Given the description of an element on the screen output the (x, y) to click on. 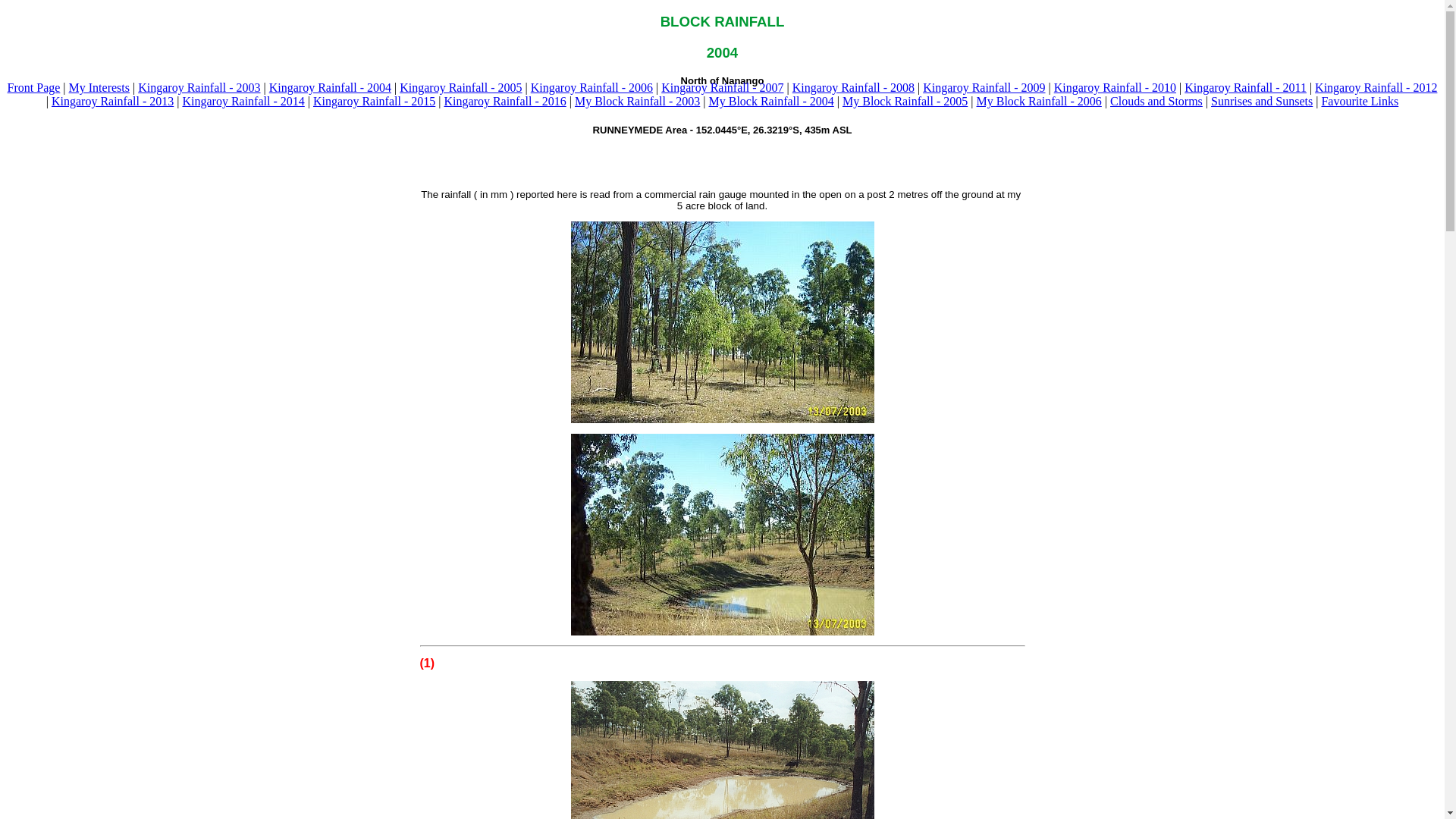
Kingaroy Rainfall - 2003 Element type: text (199, 87)
My Interests Element type: text (99, 87)
Kingaroy Rainfall - 2014 Element type: text (243, 100)
My Block Rainfall - 2004 Element type: text (770, 100)
Kingaroy Rainfall - 2009 Element type: text (983, 87)
Front Page Element type: text (33, 87)
Kingaroy Rainfall - 2015 Element type: text (374, 100)
Kingaroy Rainfall - 2010 Element type: text (1115, 87)
Favourite Links Element type: text (1359, 100)
My Block Rainfall - 2003 Element type: text (636, 100)
Sunrises and Sunsets Element type: text (1261, 100)
Kingaroy Rainfall - 2004 Element type: text (330, 87)
Kingaroy Rainfall - 2011 Element type: text (1245, 87)
Kingaroy Rainfall - 2013 Element type: text (112, 100)
Kingaroy Rainfall - 2005 Element type: text (460, 87)
Kingaroy Rainfall - 2006 Element type: text (591, 87)
Kingaroy Rainfall - 2016 Element type: text (504, 100)
My Block Rainfall - 2005 Element type: text (904, 100)
My Block Rainfall - 2006 Element type: text (1038, 100)
Kingaroy Rainfall - 2007 Element type: text (722, 87)
Kingaroy Rainfall - 2012 Element type: text (1375, 87)
Kingaroy Rainfall - 2008 Element type: text (853, 87)
Clouds and Storms Element type: text (1156, 100)
